Given the description of an element on the screen output the (x, y) to click on. 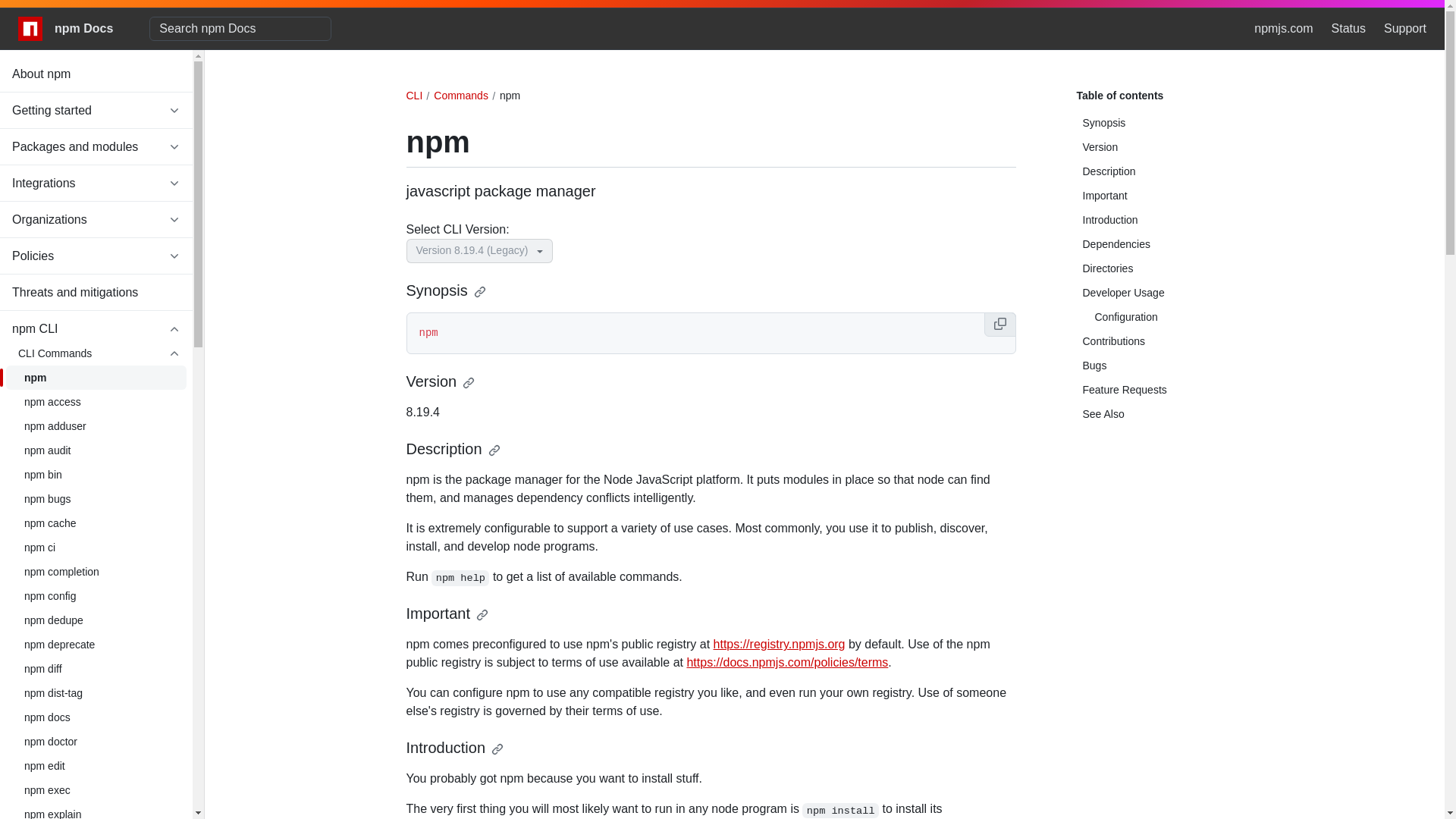
Getting started (95, 110)
About npm (95, 74)
npmjs.com (1283, 28)
Status (1348, 28)
Support (1405, 28)
npm Docs (65, 28)
Packages and modules (95, 146)
